Given the description of an element on the screen output the (x, y) to click on. 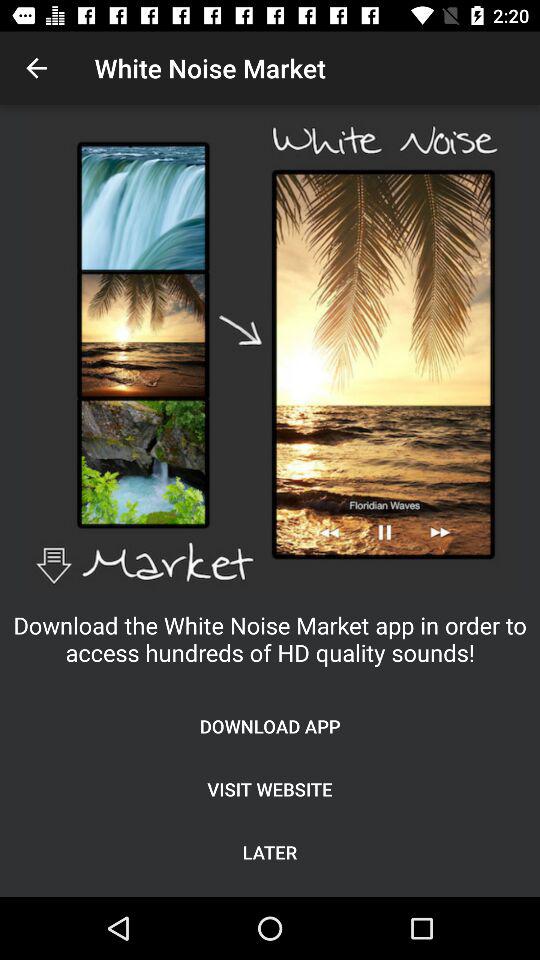
launch item above later icon (269, 788)
